Given the description of an element on the screen output the (x, y) to click on. 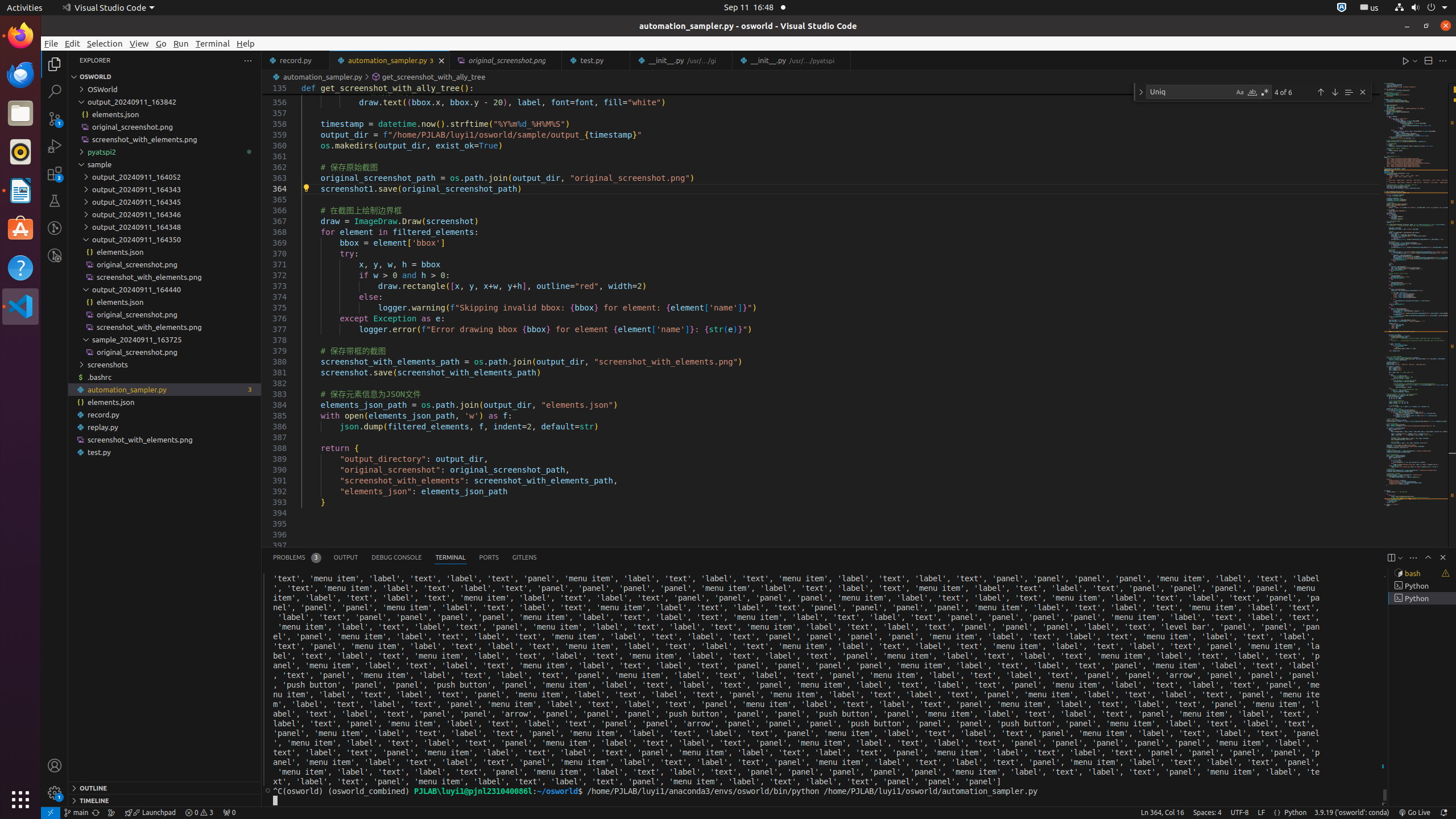
Problems (Ctrl+Shift+M) - Total 3 Problems Element type: page-tab (296, 557)
replay.py Element type: tree-item (164, 426)
Output (Ctrl+K Ctrl+H) Element type: page-tab (345, 557)
pyatspi2 Element type: tree-item (164, 151)
.bashrc Element type: tree-item (164, 376)
